Given the description of an element on the screen output the (x, y) to click on. 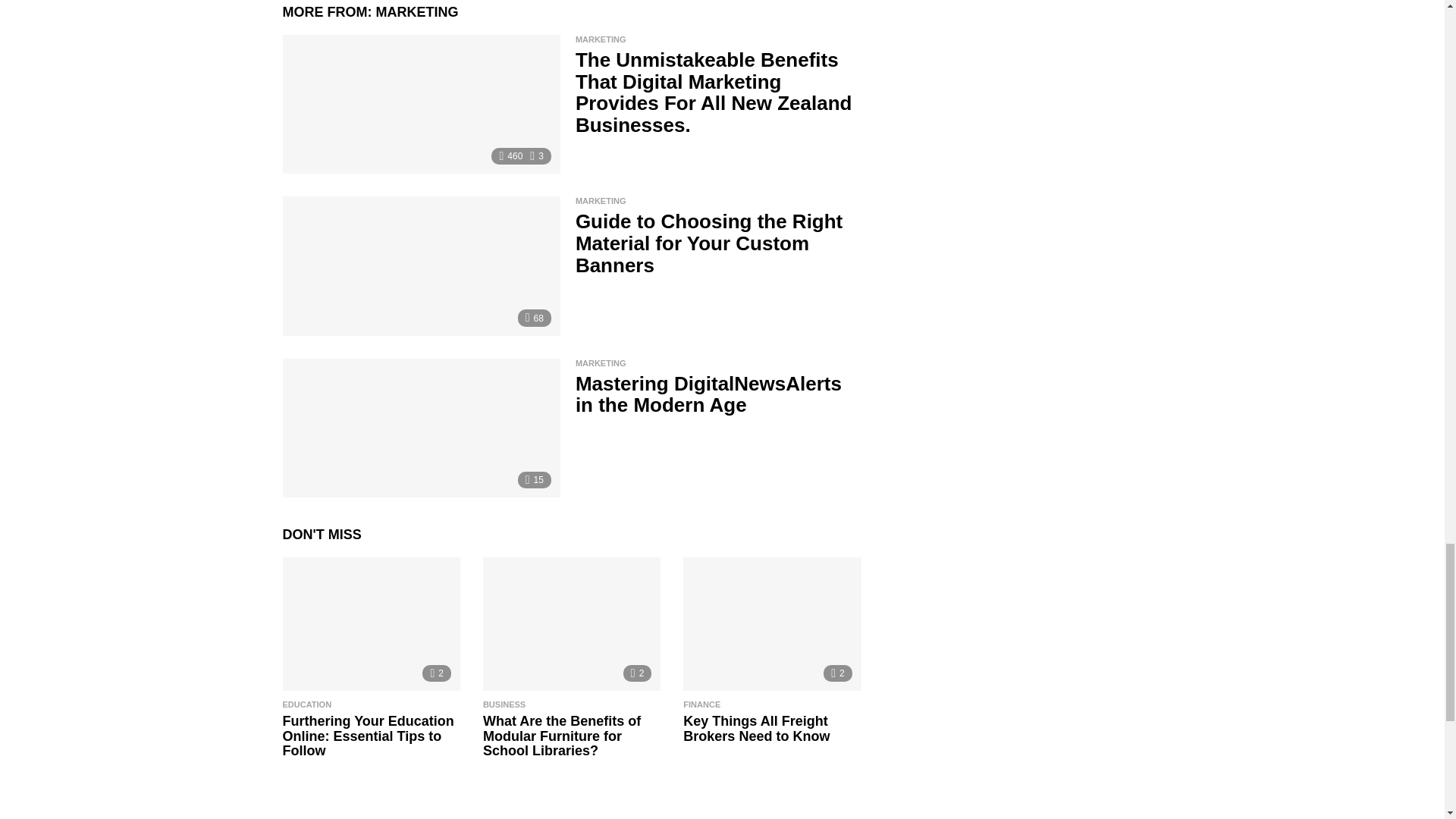
Guide to Choosing the Right Material for Your Custom Banners (420, 265)
Furthering Your Education Online: Essential Tips to Follow (371, 624)
Mastering DigitalNewsAlerts in the Modern Age (420, 427)
